Given the description of an element on the screen output the (x, y) to click on. 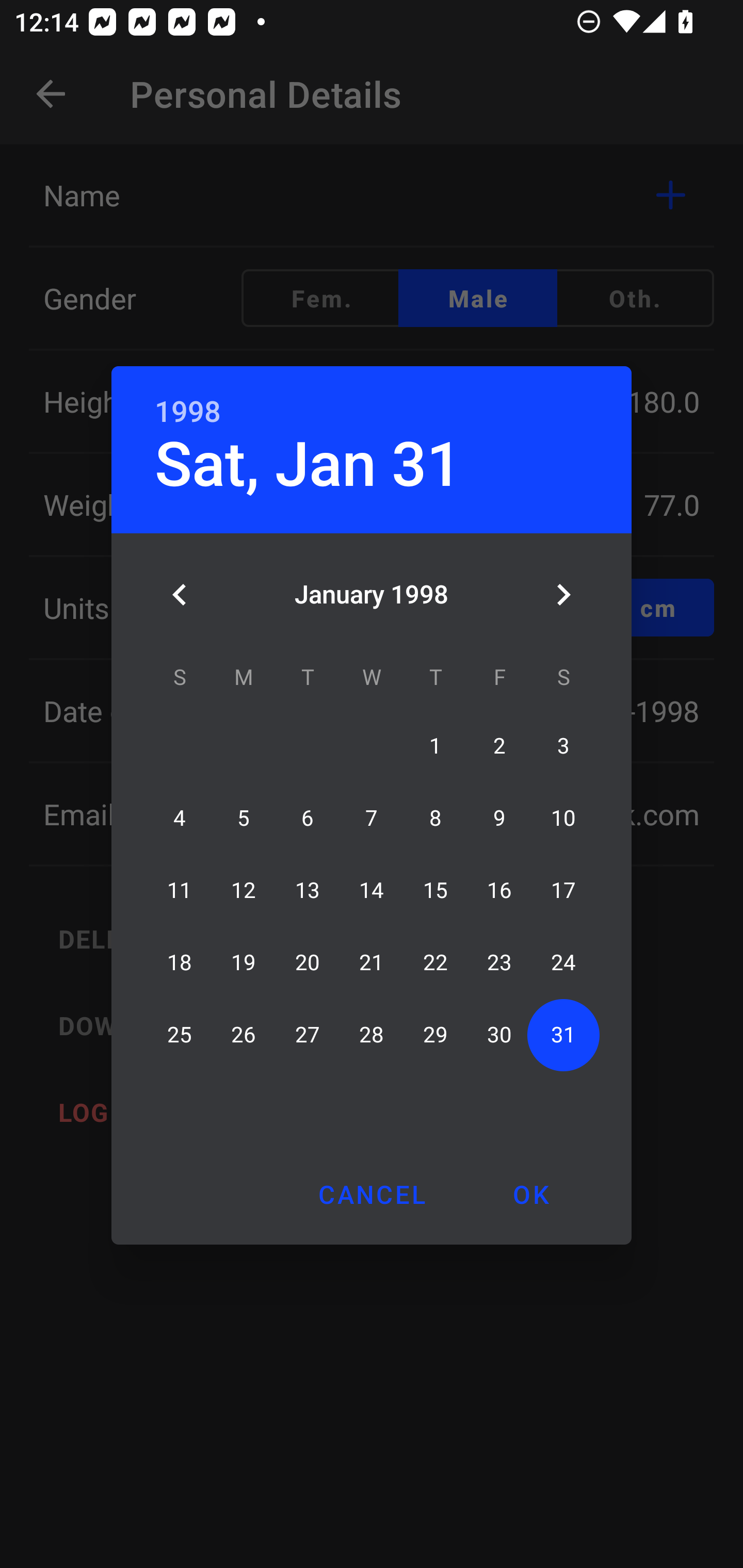
1998 (187, 412)
Sat, Jan 31 (308, 464)
Previous month (178, 594)
Next month (563, 594)
1 01 January 1998 (435, 746)
2 02 January 1998 (499, 746)
3 03 January 1998 (563, 746)
4 04 January 1998 (179, 818)
5 05 January 1998 (243, 818)
6 06 January 1998 (307, 818)
7 07 January 1998 (371, 818)
8 08 January 1998 (435, 818)
9 09 January 1998 (499, 818)
10 10 January 1998 (563, 818)
11 11 January 1998 (179, 890)
12 12 January 1998 (243, 890)
13 13 January 1998 (307, 890)
14 14 January 1998 (371, 890)
15 15 January 1998 (435, 890)
16 16 January 1998 (499, 890)
17 17 January 1998 (563, 890)
18 18 January 1998 (179, 962)
19 19 January 1998 (243, 962)
20 20 January 1998 (307, 962)
21 21 January 1998 (371, 962)
22 22 January 1998 (435, 962)
23 23 January 1998 (499, 962)
24 24 January 1998 (563, 962)
25 25 January 1998 (179, 1034)
26 26 January 1998 (243, 1034)
27 27 January 1998 (307, 1034)
28 28 January 1998 (371, 1034)
29 29 January 1998 (435, 1034)
30 30 January 1998 (499, 1034)
31 31 January 1998 (563, 1034)
CANCEL (371, 1193)
OK (530, 1193)
